Given the description of an element on the screen output the (x, y) to click on. 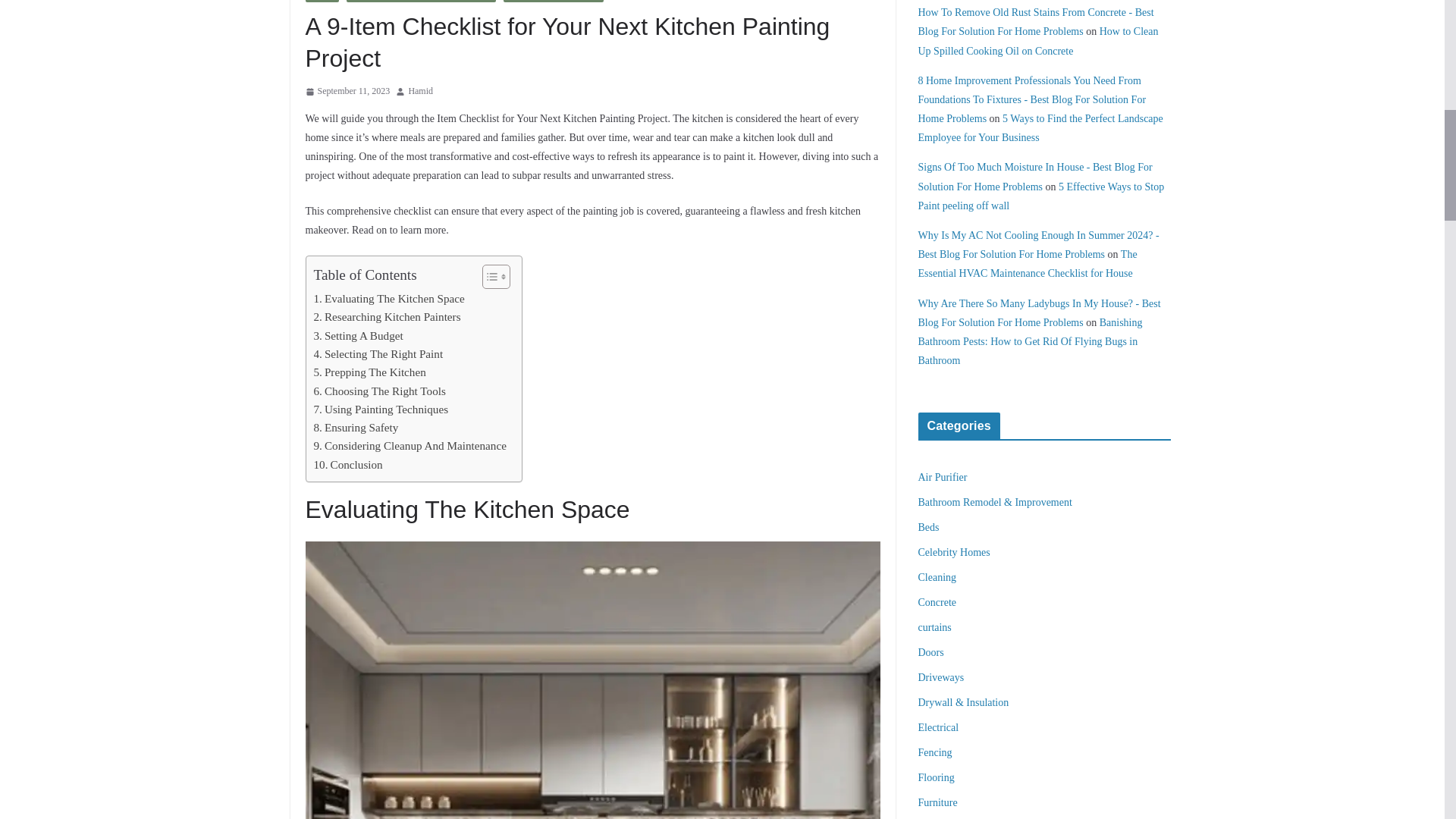
Selecting The Right Paint (379, 353)
Setting A Budget (358, 335)
Ensuring Safety (356, 427)
PAINT (321, 1)
Selecting The Right Paint (379, 353)
Researching Kitchen Painters (387, 316)
Hamid (419, 91)
Using Painting Techniques (381, 409)
Choosing The Right Tools (379, 391)
Setting A Budget (358, 335)
Hamid (419, 91)
Evaluating The Kitchen Space (389, 298)
2:29 pm (347, 91)
Evaluating The Kitchen Space (389, 298)
September 11, 2023 (347, 91)
